Given the description of an element on the screen output the (x, y) to click on. 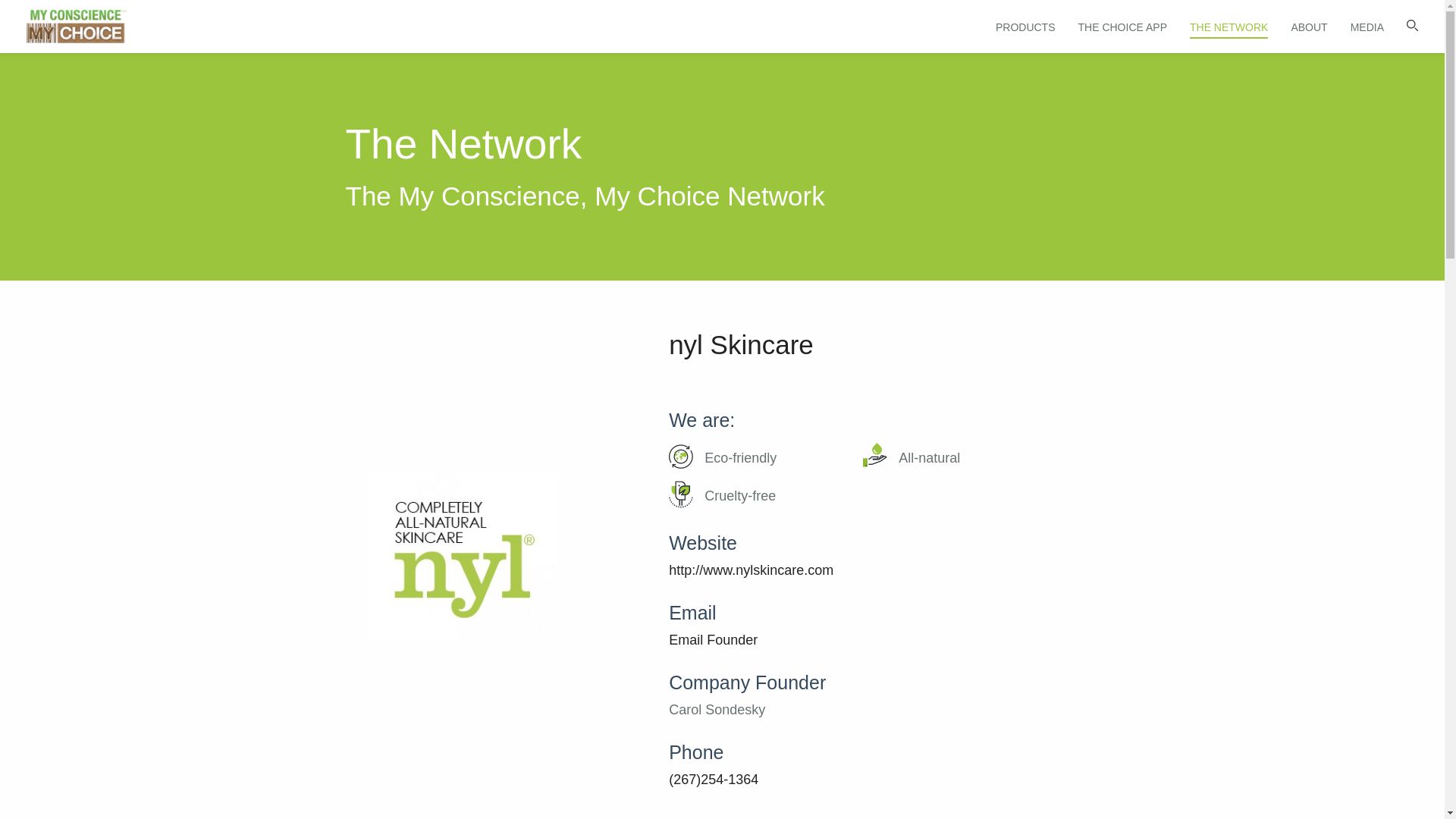
Email Founder (712, 639)
THE NETWORK (1228, 27)
PRODUCTS (1025, 27)
MEDIA (1367, 27)
THE CHOICE APP (1122, 27)
ABOUT (1308, 27)
